Given the description of an element on the screen output the (x, y) to click on. 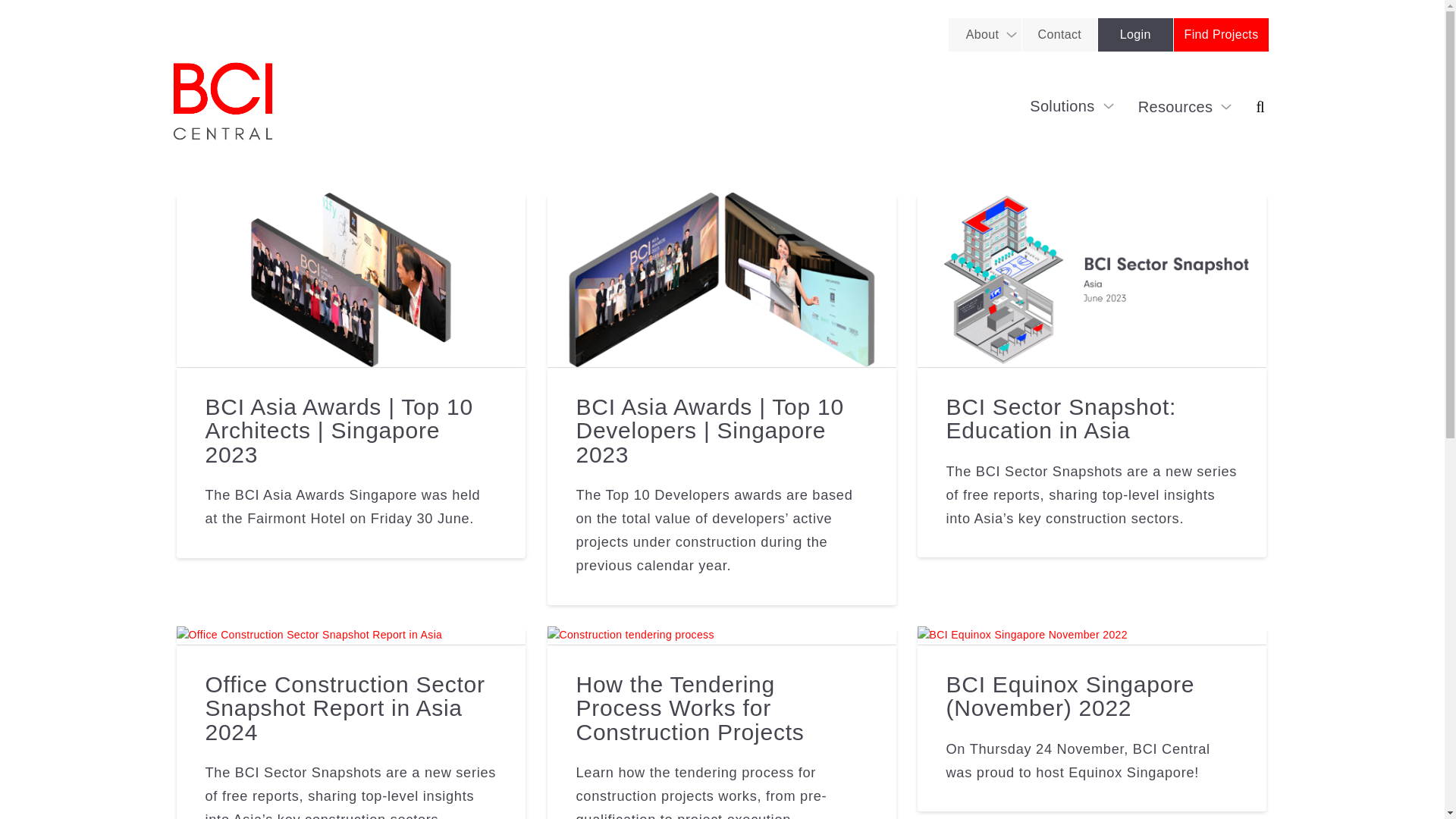
Find Projects (1220, 34)
How the Tendering Process Works for Construction Projects (689, 707)
BCI Sector Snapshot: Education in Asia (1060, 418)
Login (1135, 34)
Permalink to: "BCI Sector Snapshot: Education in Asia" (1091, 279)
About (982, 34)
Permalink to: "BCI Sector Snapshot: Education in Asia" (1060, 418)
Office Construction Sector Snapshot Report in Asia 2024 (344, 707)
Contact (1059, 34)
Solutions (1072, 106)
